Given the description of an element on the screen output the (x, y) to click on. 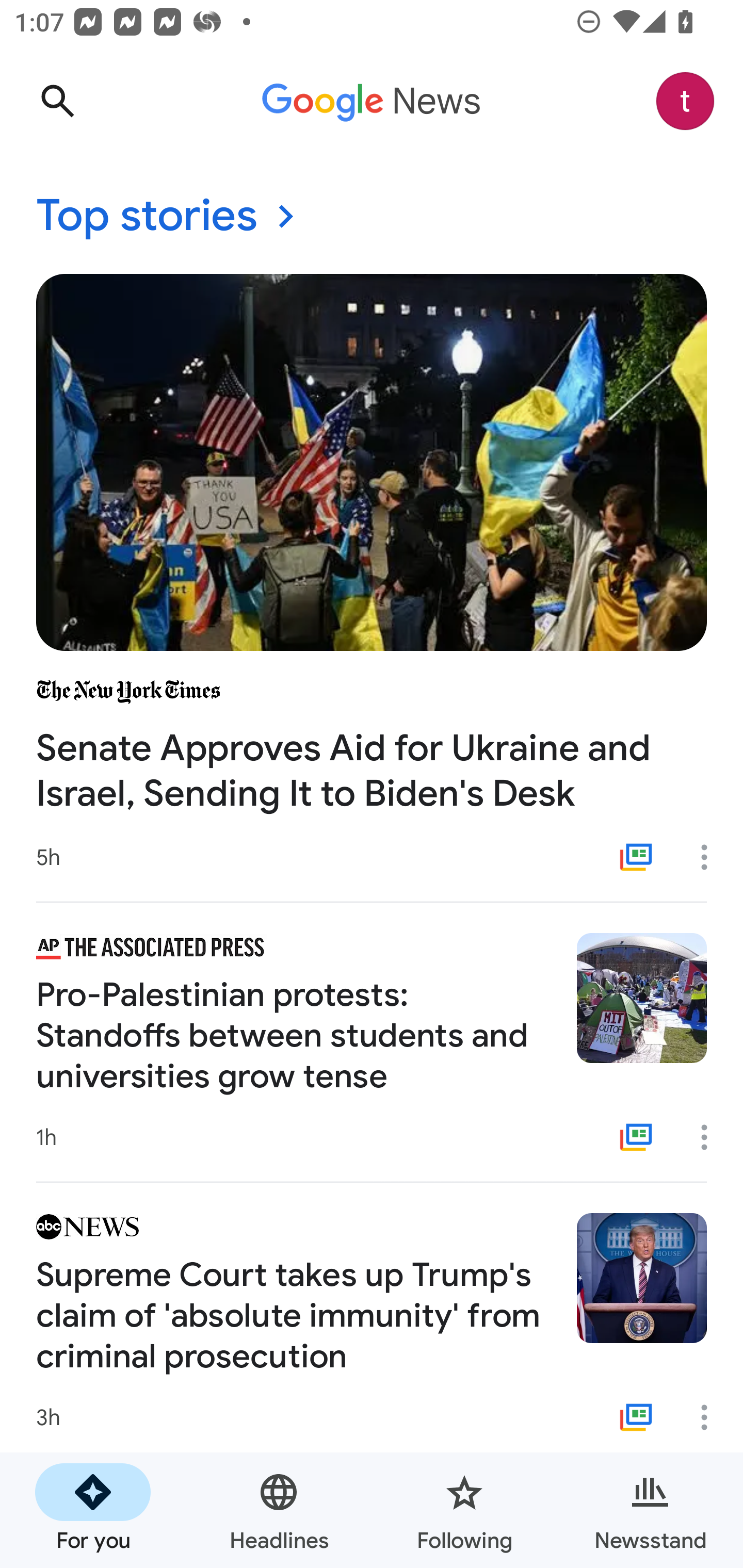
Search (57, 100)
Top stories (371, 216)
More options (711, 856)
More options (711, 1137)
More options (711, 1417)
For you (92, 1509)
Headlines (278, 1509)
Following (464, 1509)
Newsstand (650, 1509)
